Given the description of an element on the screen output the (x, y) to click on. 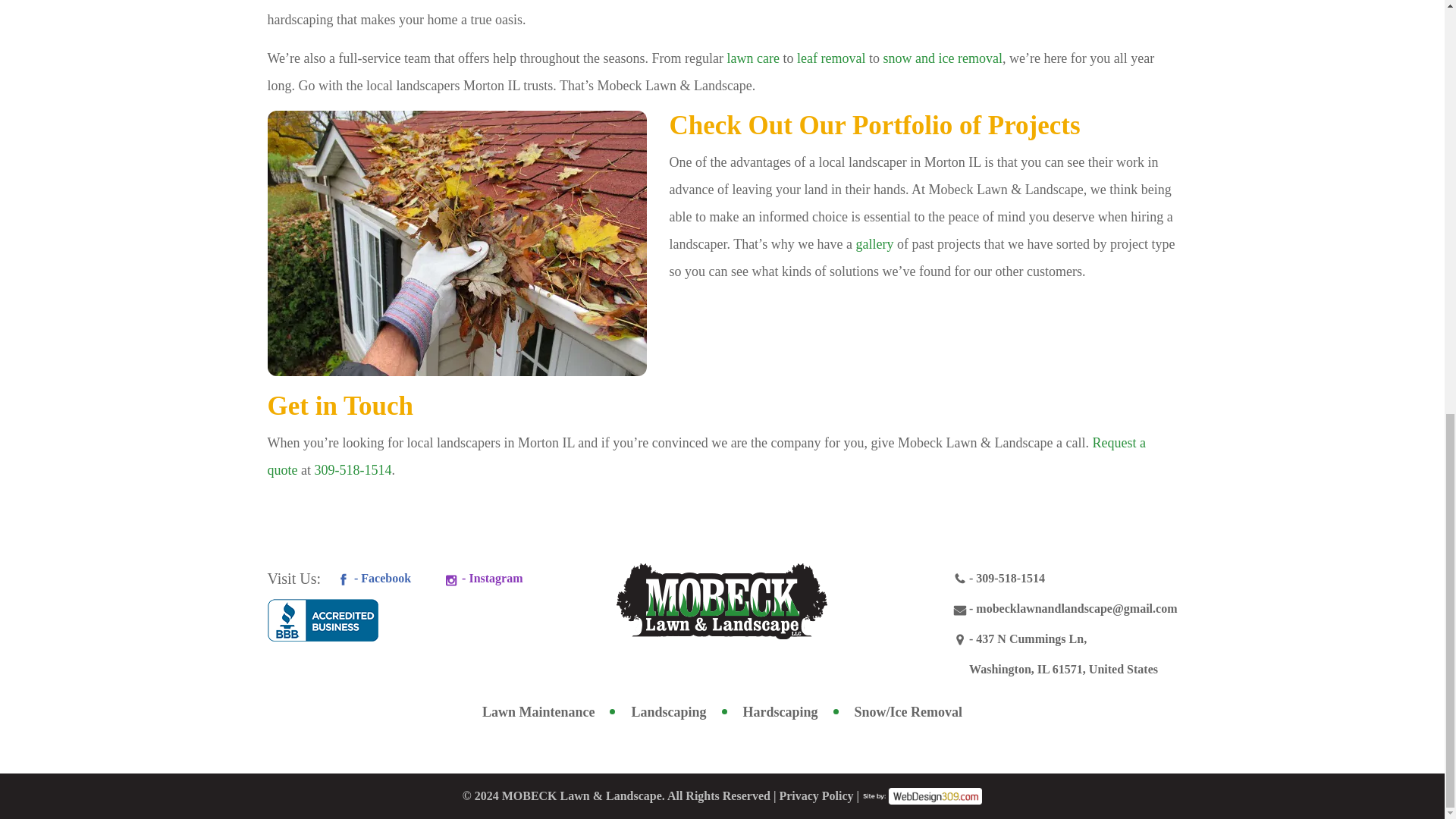
lawn care (752, 58)
